Given the description of an element on the screen output the (x, y) to click on. 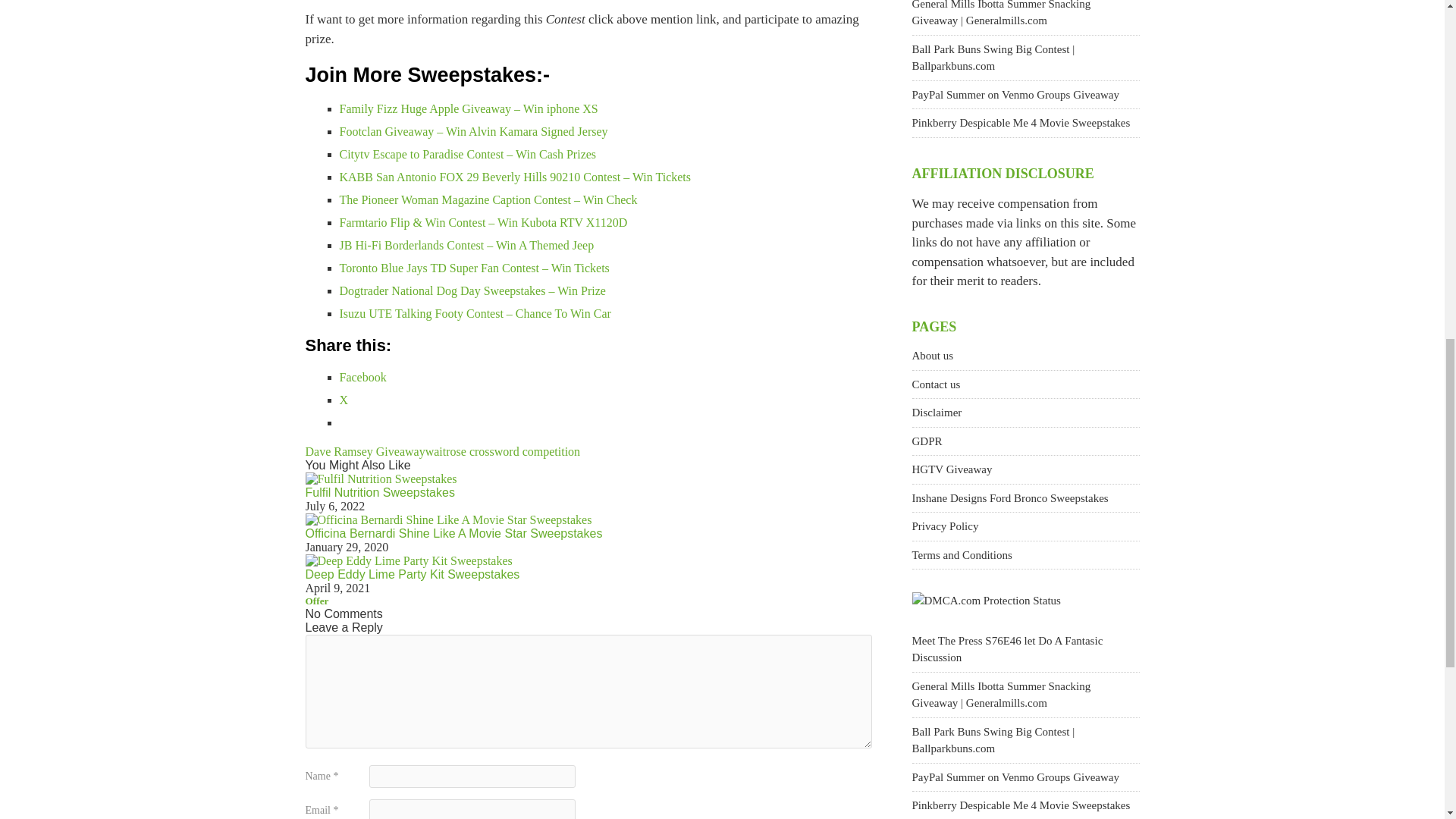
Click to share on Facebook (363, 377)
Offer (316, 600)
DMCA.com Protection Status (985, 600)
Deep Eddy Lime Party Kit Sweepstakes (411, 574)
Facebook (363, 377)
X (344, 399)
Click to share on X (344, 399)
Posts by Offer (316, 600)
Officina Bernardi Shine Like A Movie Star Sweepstakes (453, 533)
waitrose crossword competition (502, 451)
Fulfil Nutrition Sweepstakes (379, 492)
Dave Ramsey Giveaway (364, 451)
